Given the description of an element on the screen output the (x, y) to click on. 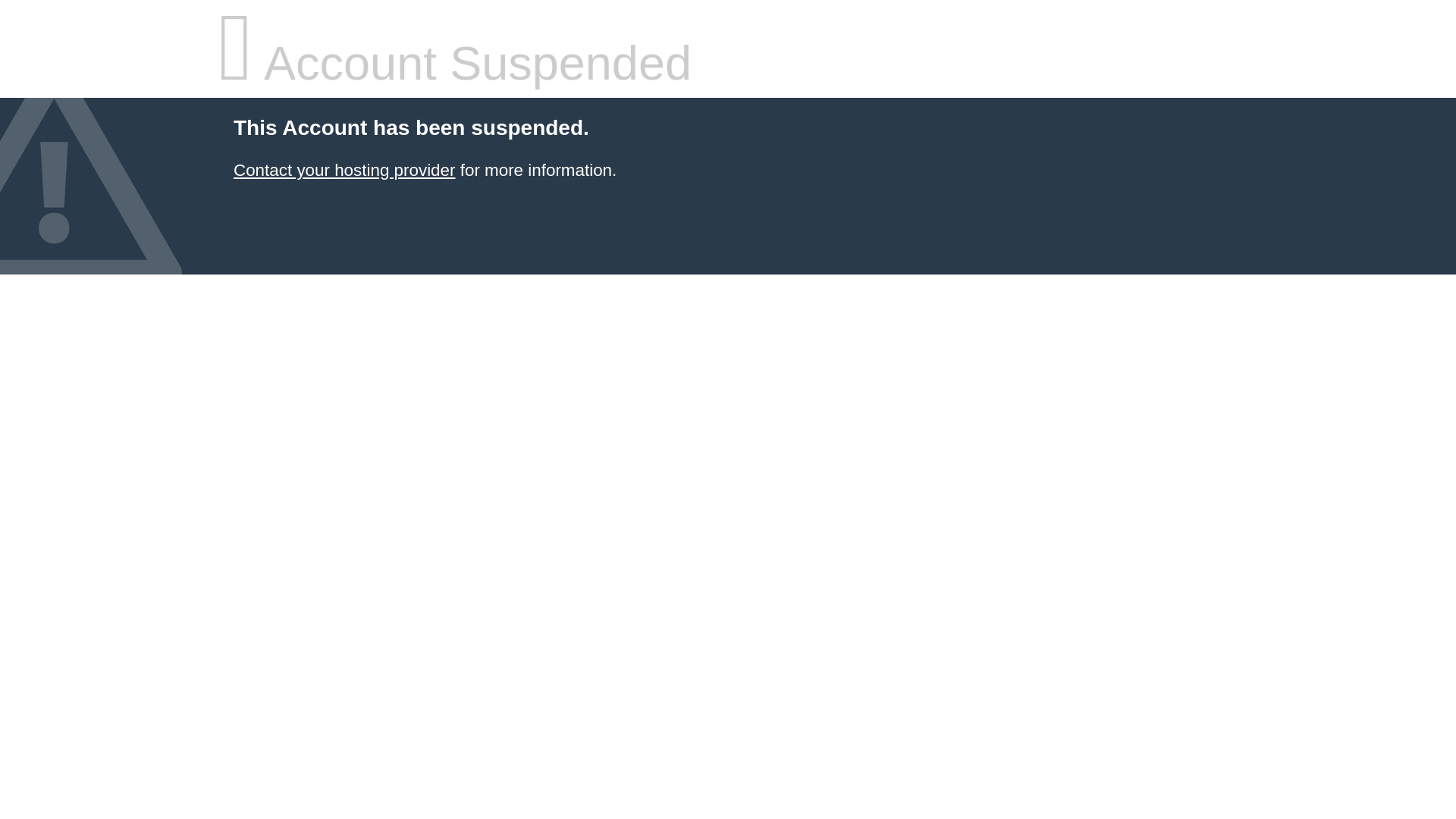
Contact your hosting provider (343, 169)
